Given the description of an element on the screen output the (x, y) to click on. 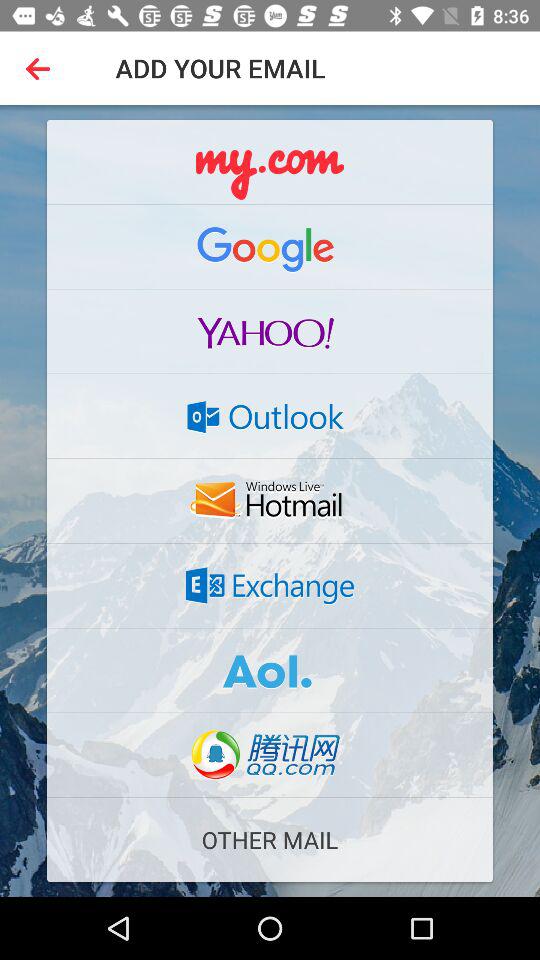
website link (269, 585)
